Given the description of an element on the screen output the (x, y) to click on. 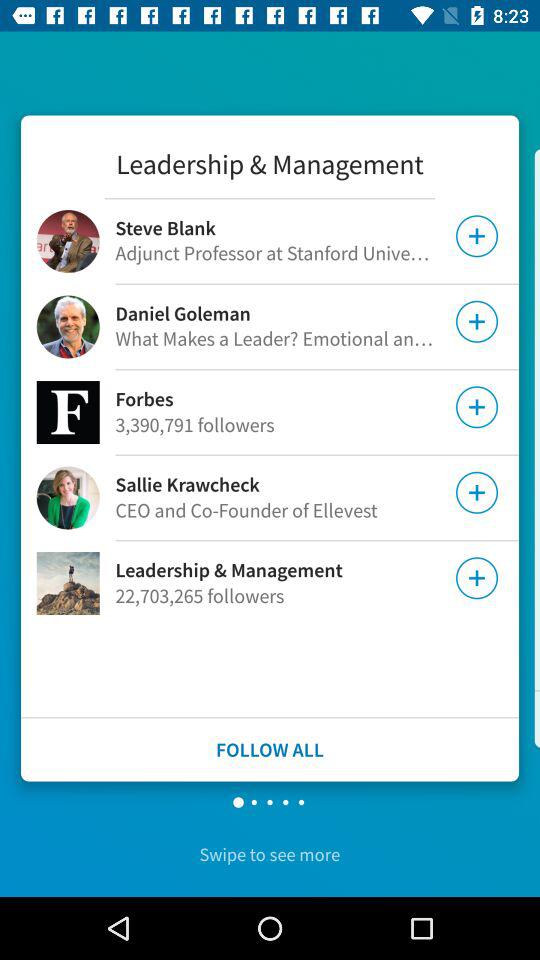
select follow all (270, 749)
